Given the description of an element on the screen output the (x, y) to click on. 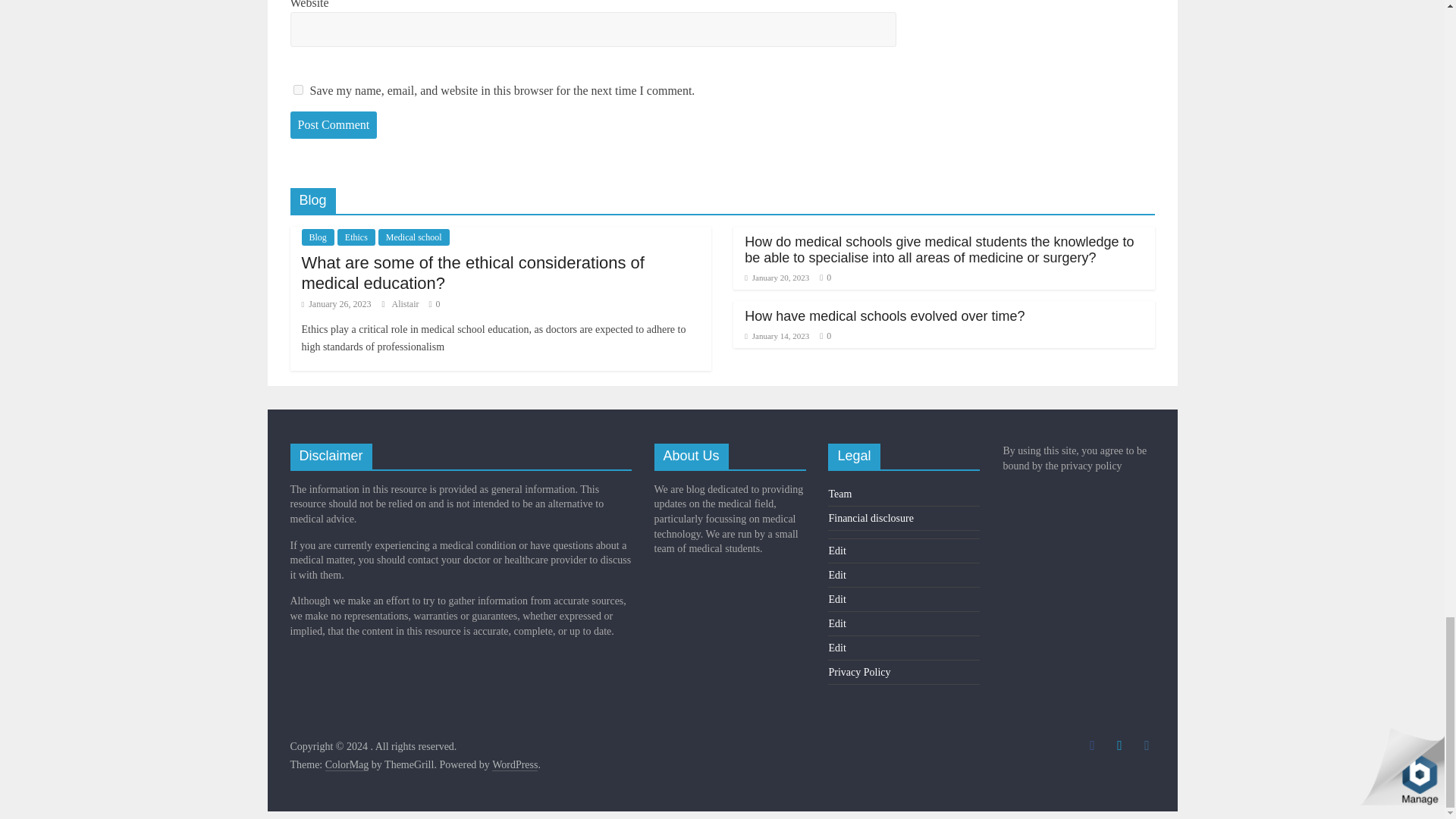
Post Comment (333, 124)
yes (297, 90)
